Given the description of an element on the screen output the (x, y) to click on. 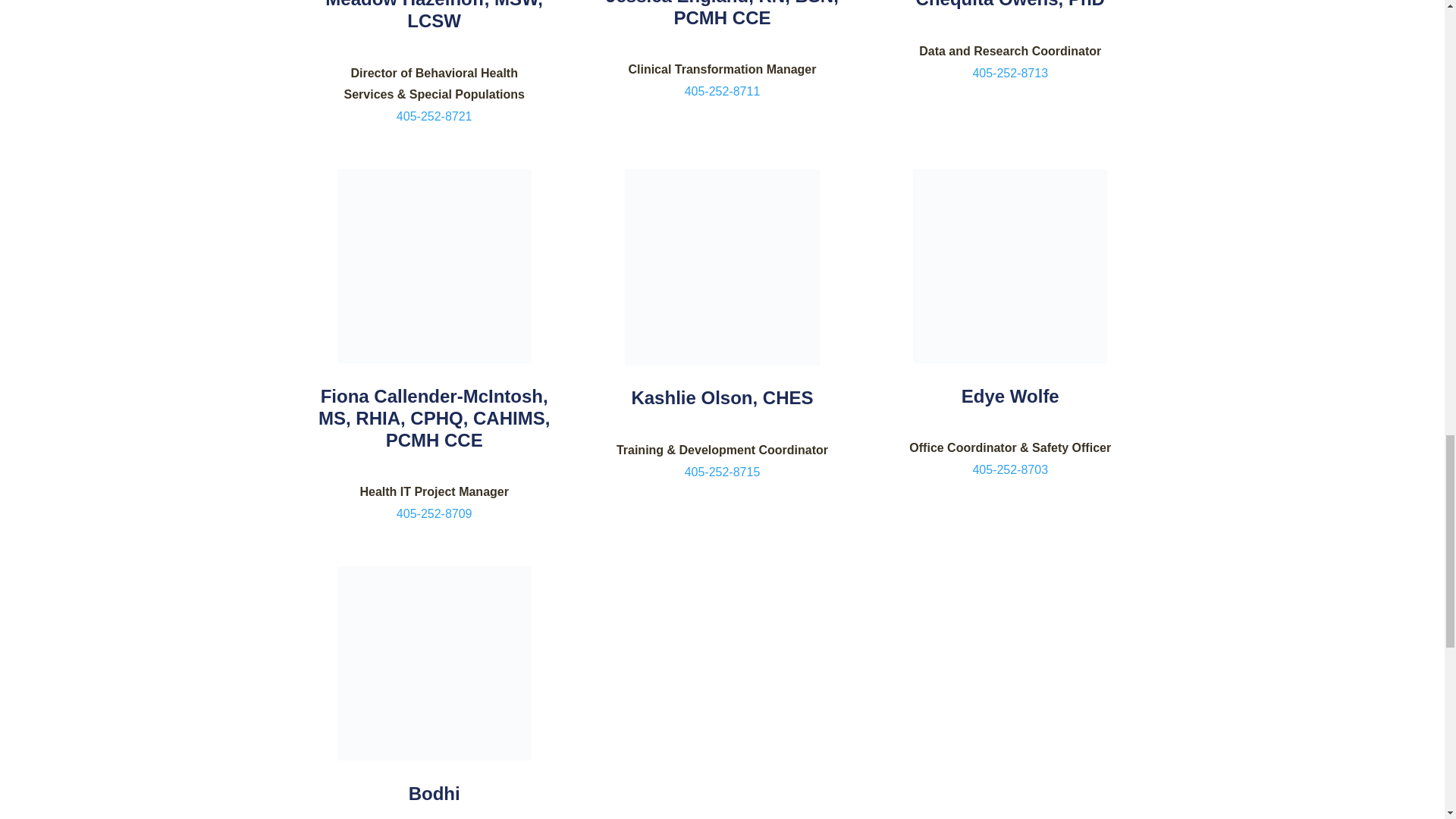
Fiona Callender-McIntosh (434, 265)
405-252-8715 (722, 472)
405-252-8713 (1010, 72)
Fiona Callender-McIntosh, MS, RHIA, CPHQ, CAHIMS, PCMH CCE (434, 417)
405-252-8709 (433, 513)
405-252-8711 (722, 91)
Jessica England, RN, BSN, PCMH CCE (721, 13)
Meadow Hazelhoff, MSW, LCSW (433, 15)
405-252-8721 (433, 115)
Bodhi (434, 663)
